Given the description of an element on the screen output the (x, y) to click on. 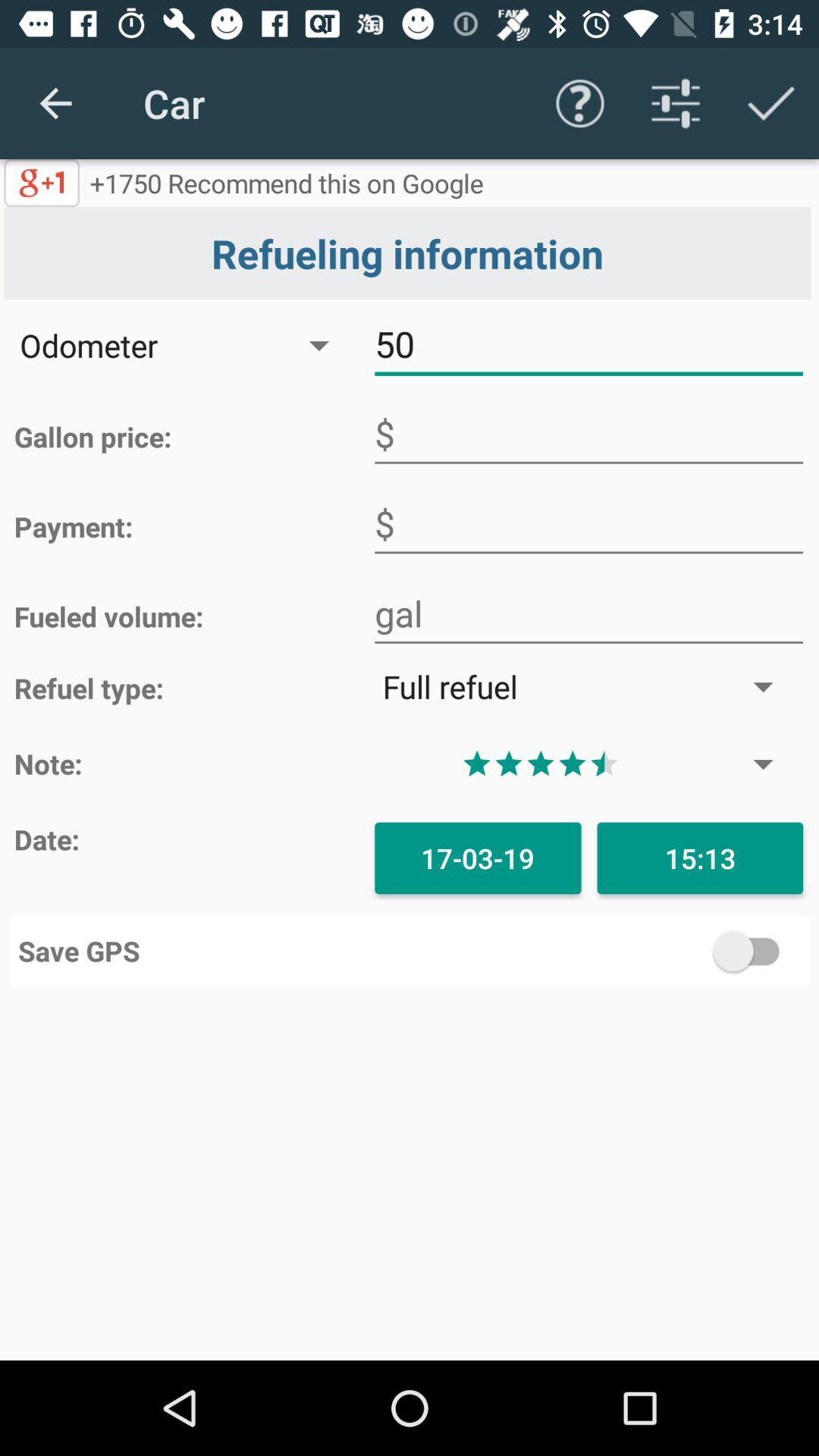
launch item to the left of car (55, 103)
